Given the description of an element on the screen output the (x, y) to click on. 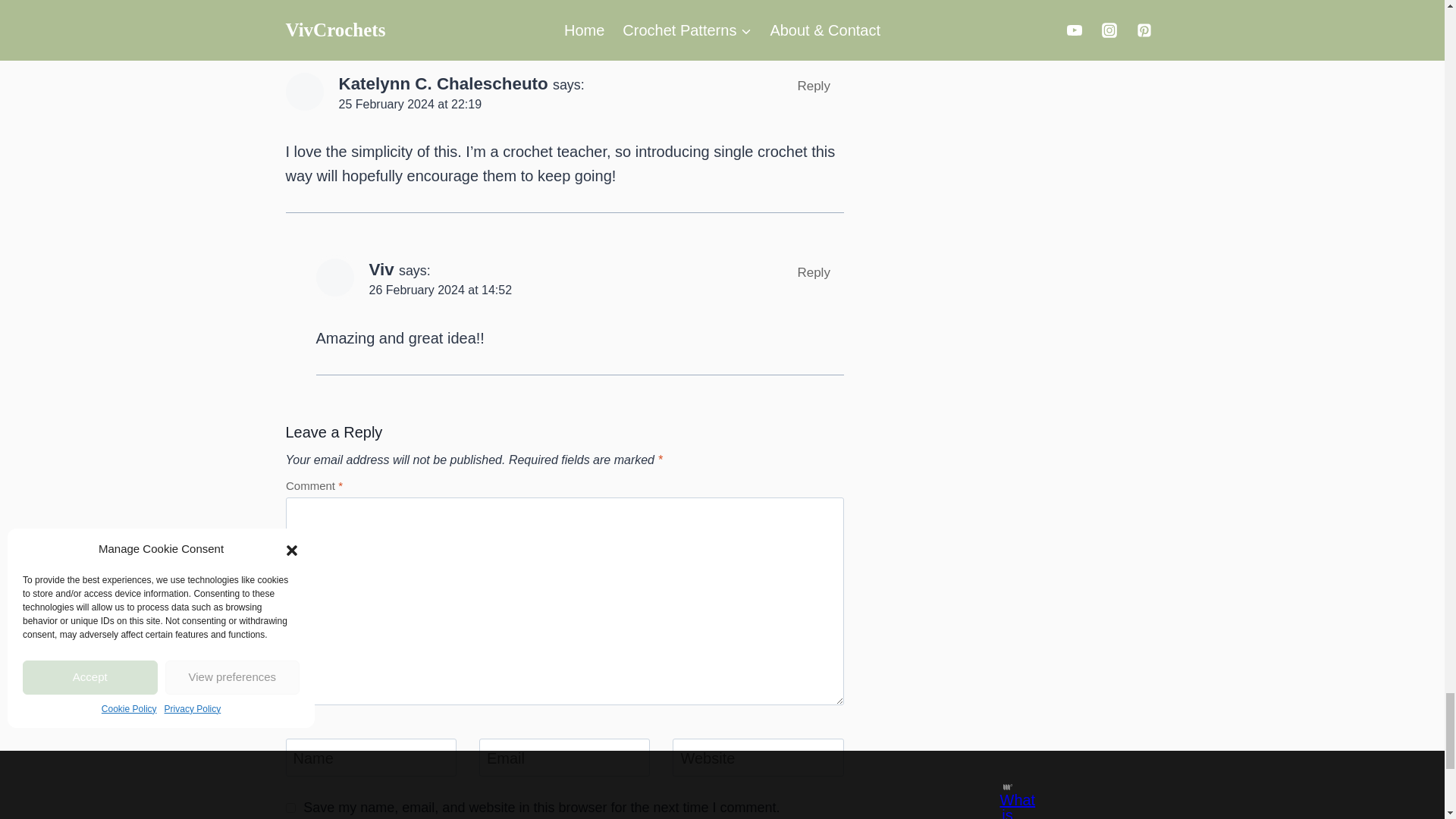
yes (290, 808)
